Given the description of an element on the screen output the (x, y) to click on. 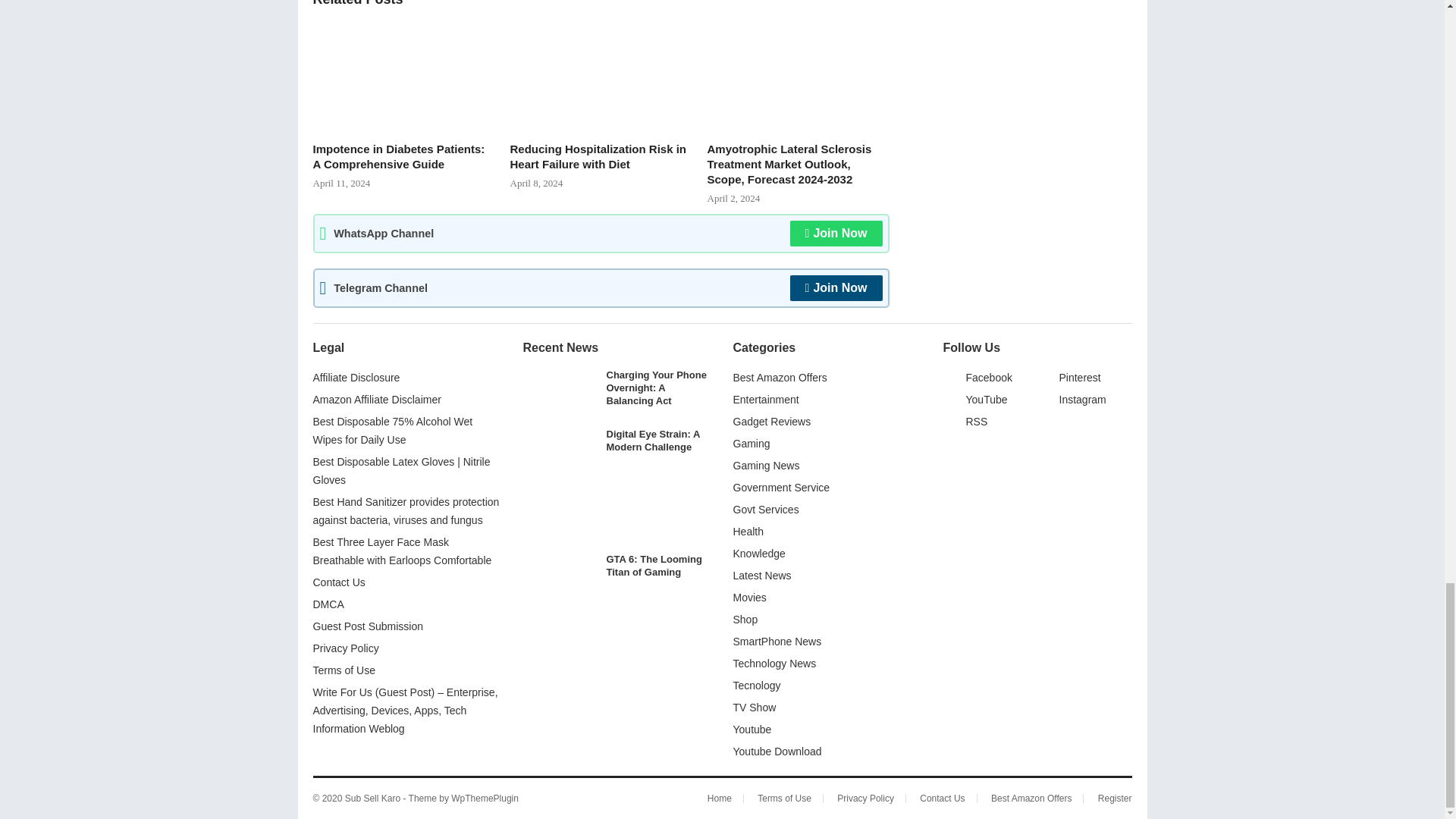
Impotence in Diabetes  Patients: A Comprehensive Guide (404, 76)
Reducing Hospitalization Risk in Heart Failure with Diet (600, 76)
